Given the description of an element on the screen output the (x, y) to click on. 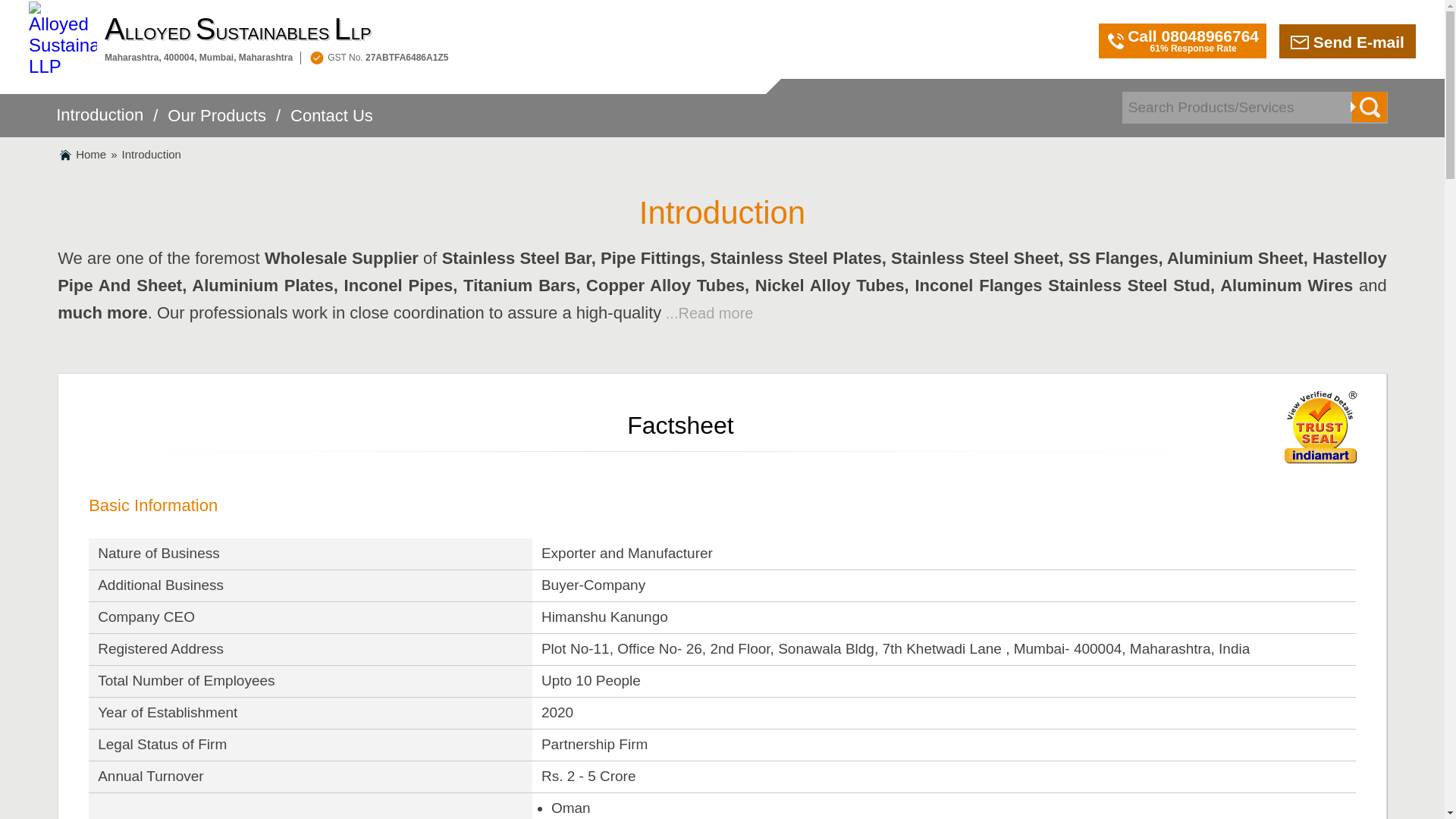
Home (90, 154)
Our Products (216, 124)
Contact Us (330, 124)
Introduction (99, 123)
ALLOYED SUSTAINABLES LLP (276, 30)
